Given the description of an element on the screen output the (x, y) to click on. 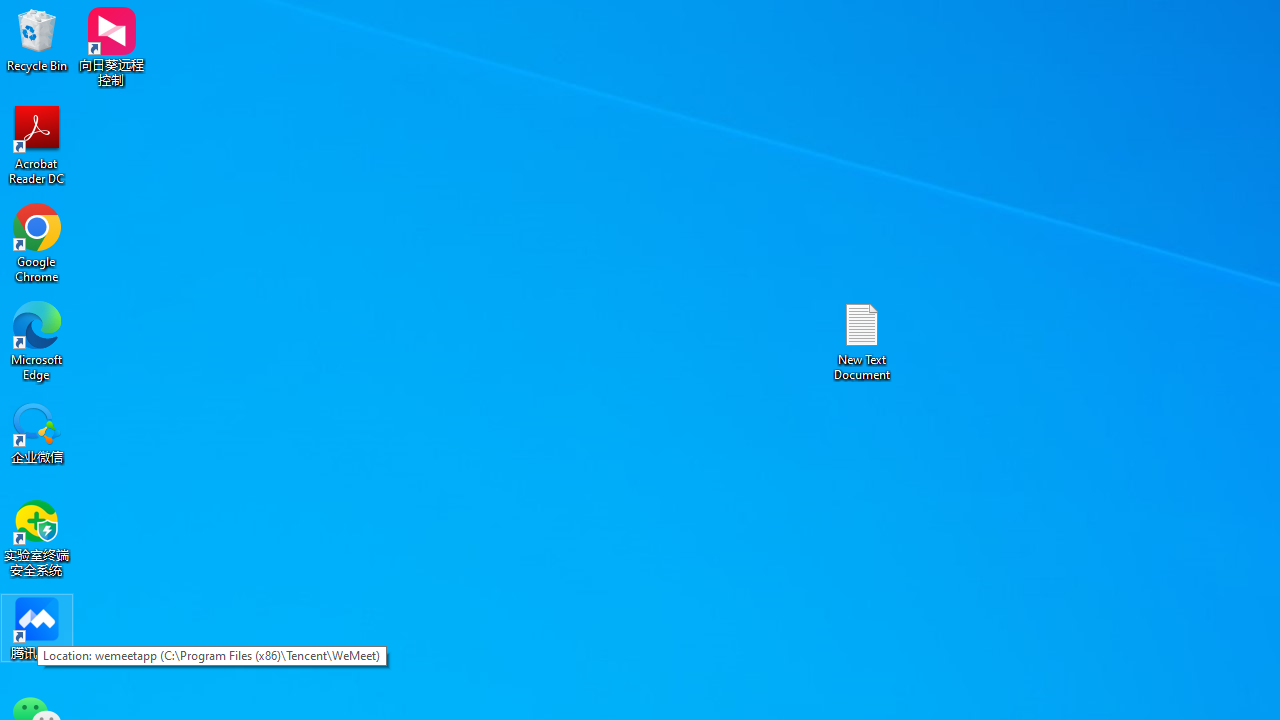
Google Chrome (37, 242)
New Text Document (861, 340)
Recycle Bin (37, 39)
Acrobat Reader DC (37, 144)
Microsoft Edge (37, 340)
